Given the description of an element on the screen output the (x, y) to click on. 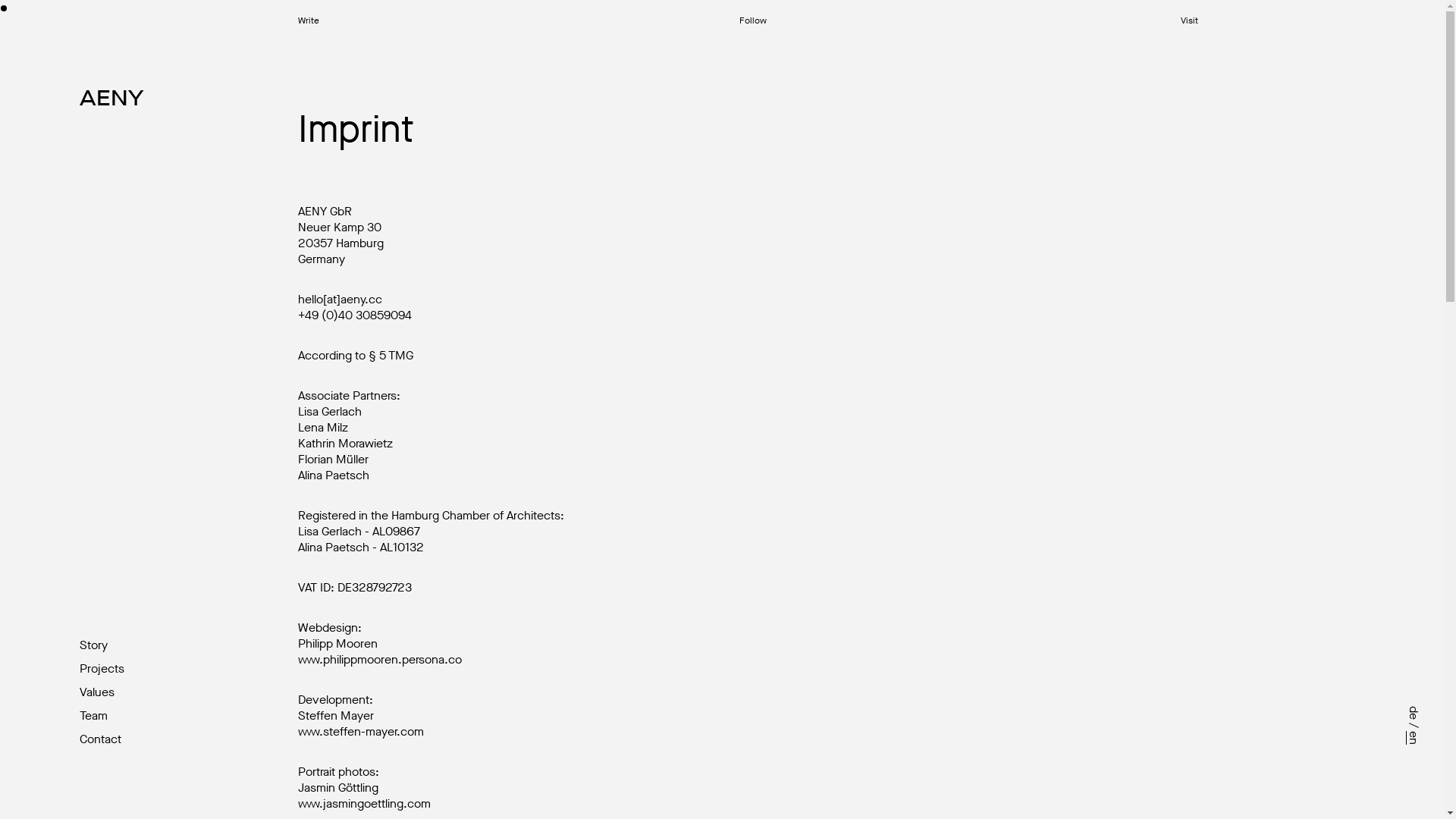
Values Element type: text (88, 691)
www.jasmingoettling.com Element type: text (364, 803)
en Element type: text (1412, 738)
Contact Element type: text (88, 738)
Team Element type: text (88, 715)
Story Element type: text (88, 644)
Visit Element type: text (1189, 20)
Write Element type: text (308, 20)
www.steffen-mayer.com Element type: text (360, 731)
Follow Element type: text (752, 20)
www.philippmooren.persona.co Element type: text (379, 659)
Projects Element type: text (88, 668)
de Element type: text (1412, 713)
